Given the description of an element on the screen output the (x, y) to click on. 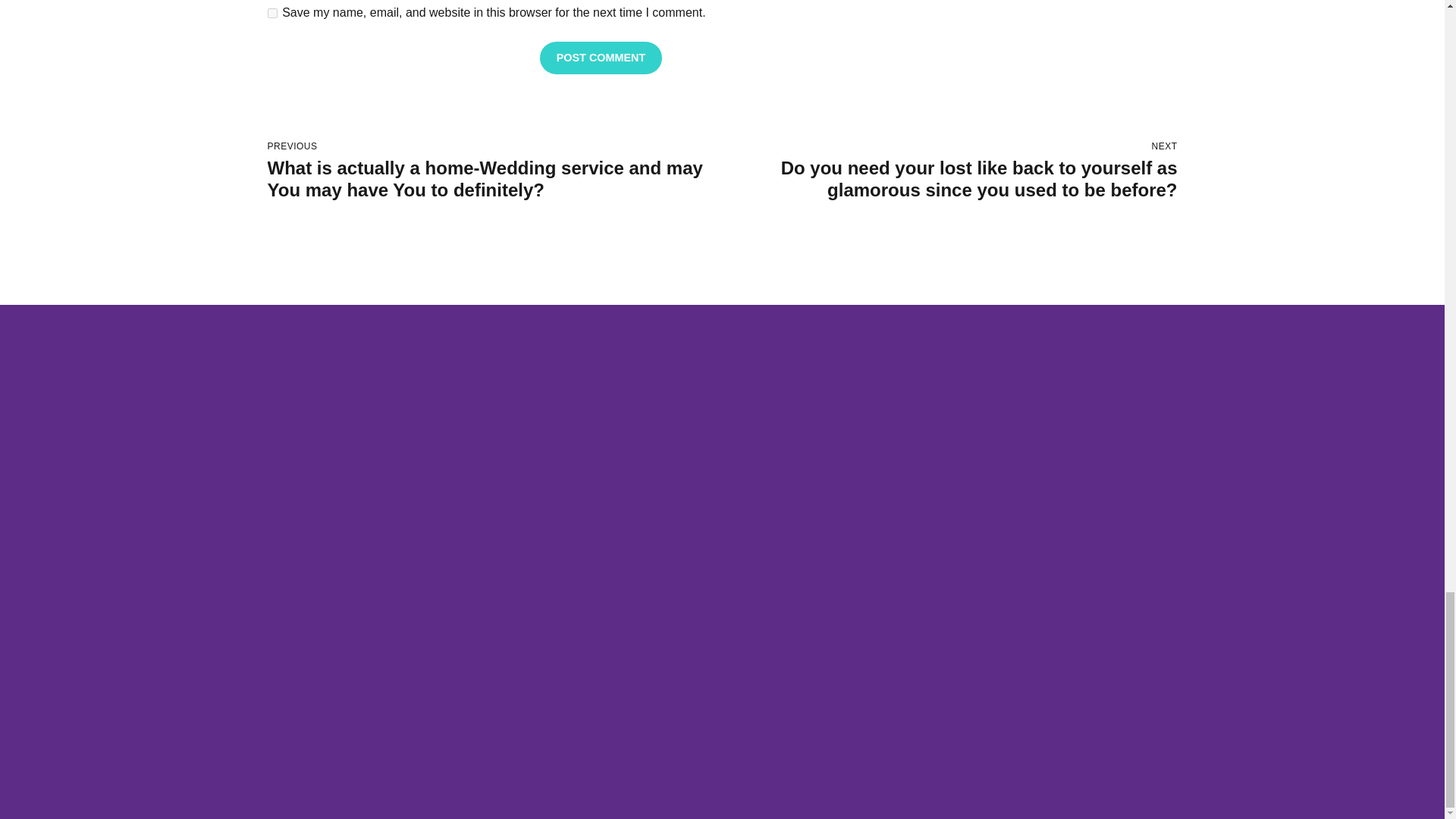
yes (271, 13)
POST COMMENT (601, 57)
